Given the description of an element on the screen output the (x, y) to click on. 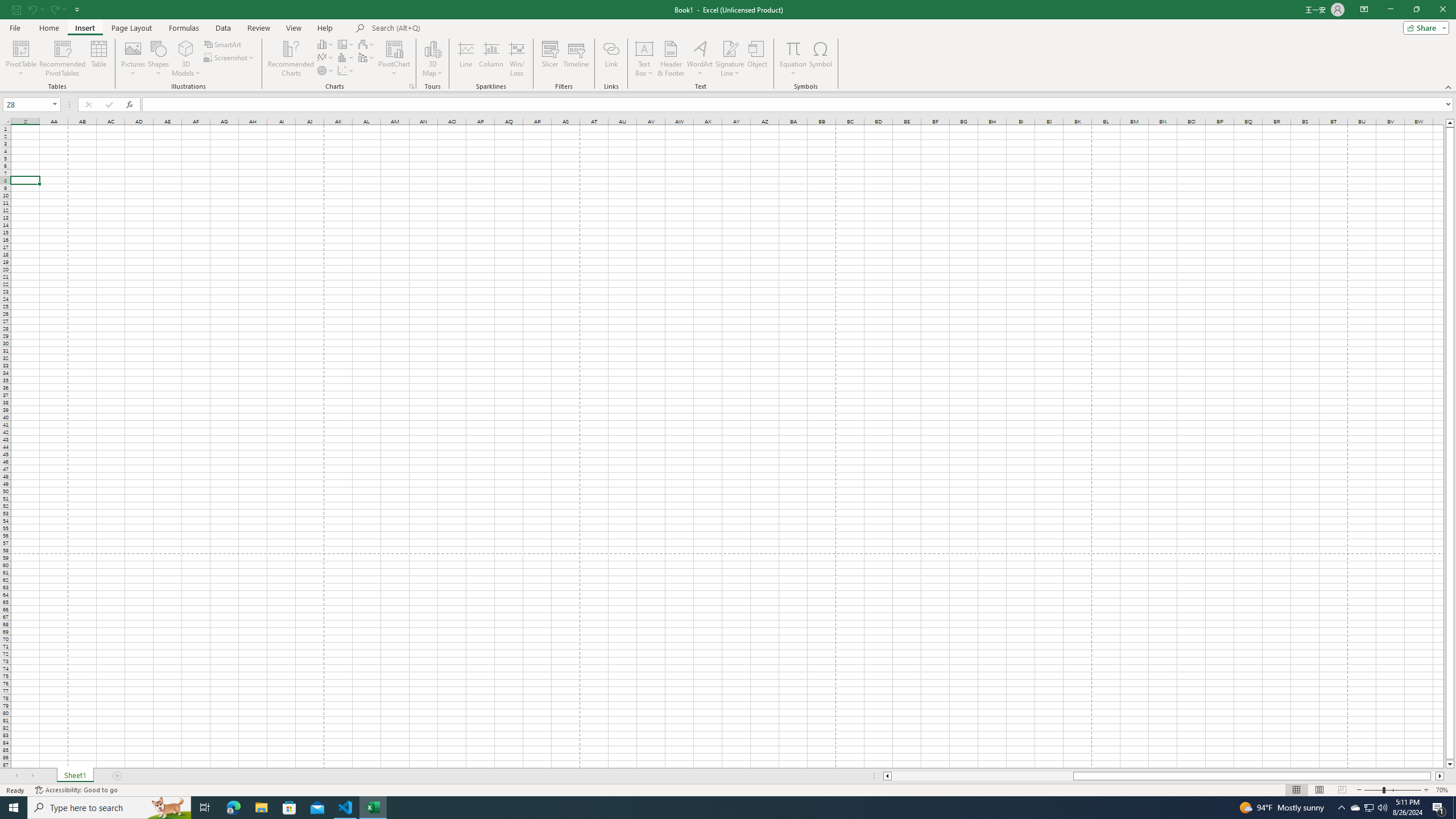
3D Map (432, 58)
Symbol... (821, 58)
Insert Pie or Doughnut Chart (325, 69)
Screenshot (229, 56)
PivotTable (20, 58)
3D Models (186, 48)
Header & Footer... (670, 58)
Insert Column or Bar Chart (325, 44)
